Given the description of an element on the screen output the (x, y) to click on. 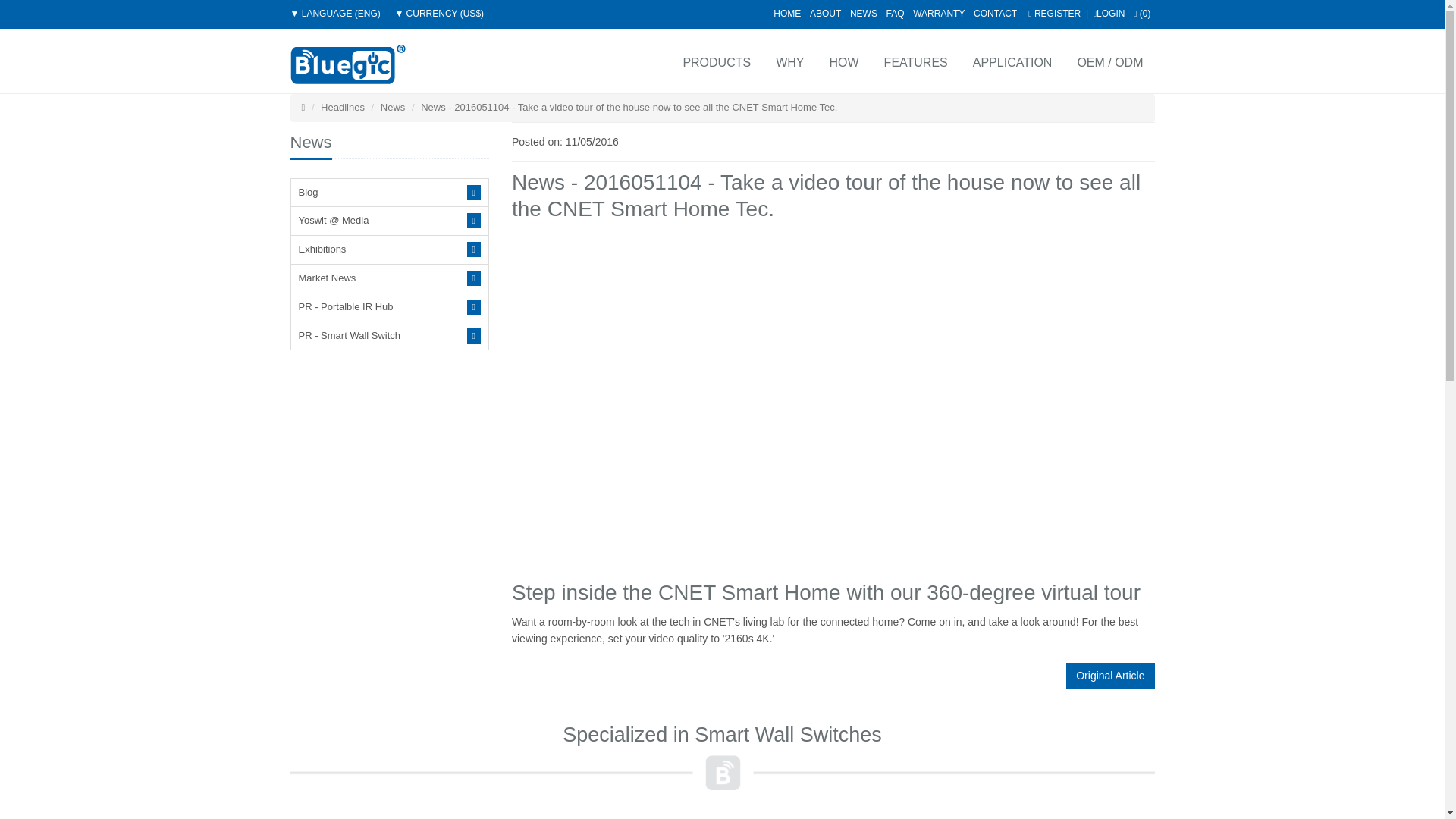
Shopping Cart (1142, 13)
WARRANTY (937, 13)
FAQ (895, 13)
HOME (786, 13)
bluegic.com (347, 64)
REGISTER (1053, 13)
APPLICATION (1011, 60)
PRODUCTS (714, 60)
NEWS (863, 13)
LOGIN (1109, 13)
FEATURES (914, 60)
ABOUT (825, 13)
CONTACT (995, 13)
